Given the description of an element on the screen output the (x, y) to click on. 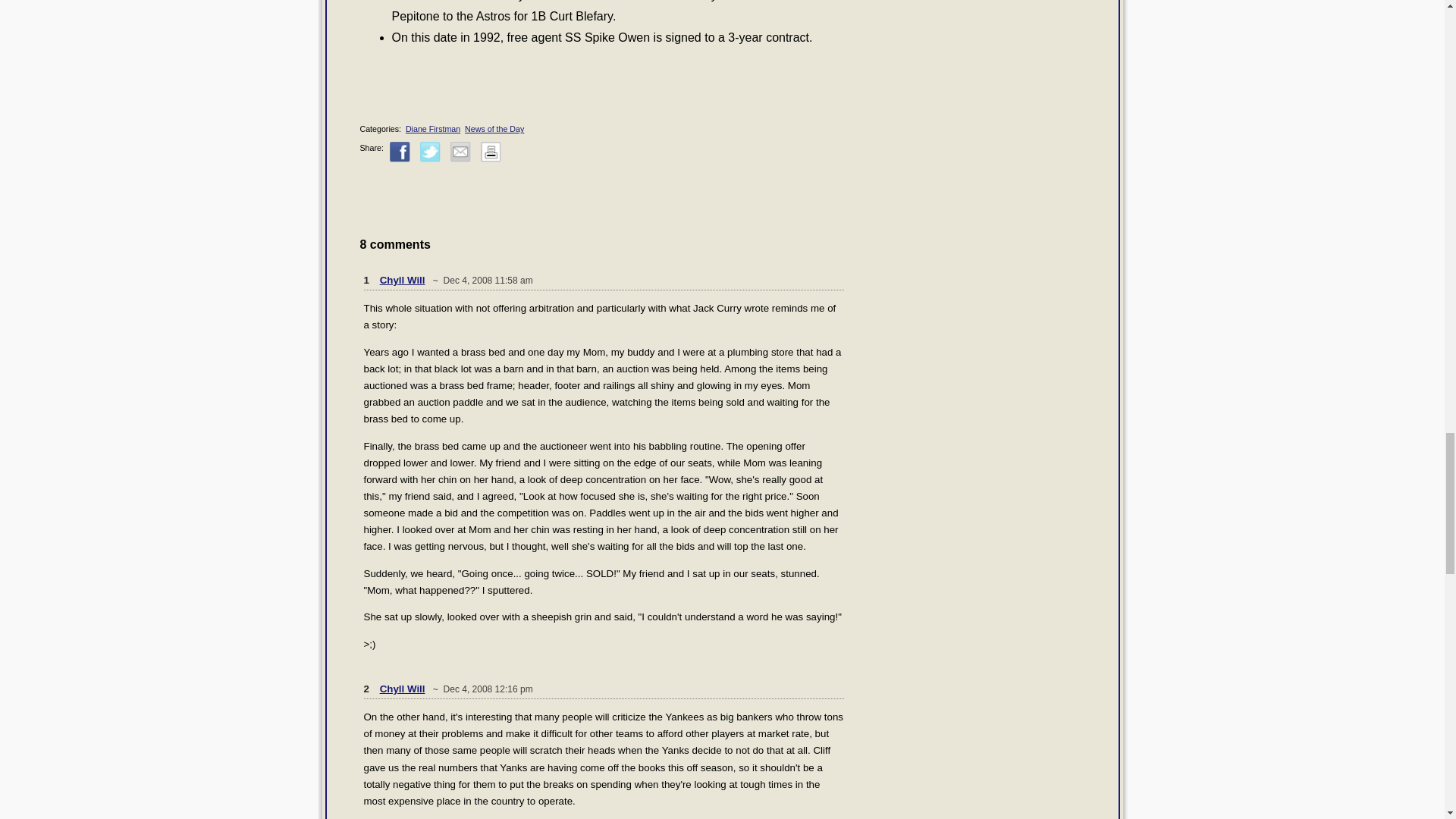
Print This Post (490, 151)
Share on Twitter (430, 151)
Share via email (459, 151)
Print This Post (490, 158)
Share on Facebook (400, 151)
